Given the description of an element on the screen output the (x, y) to click on. 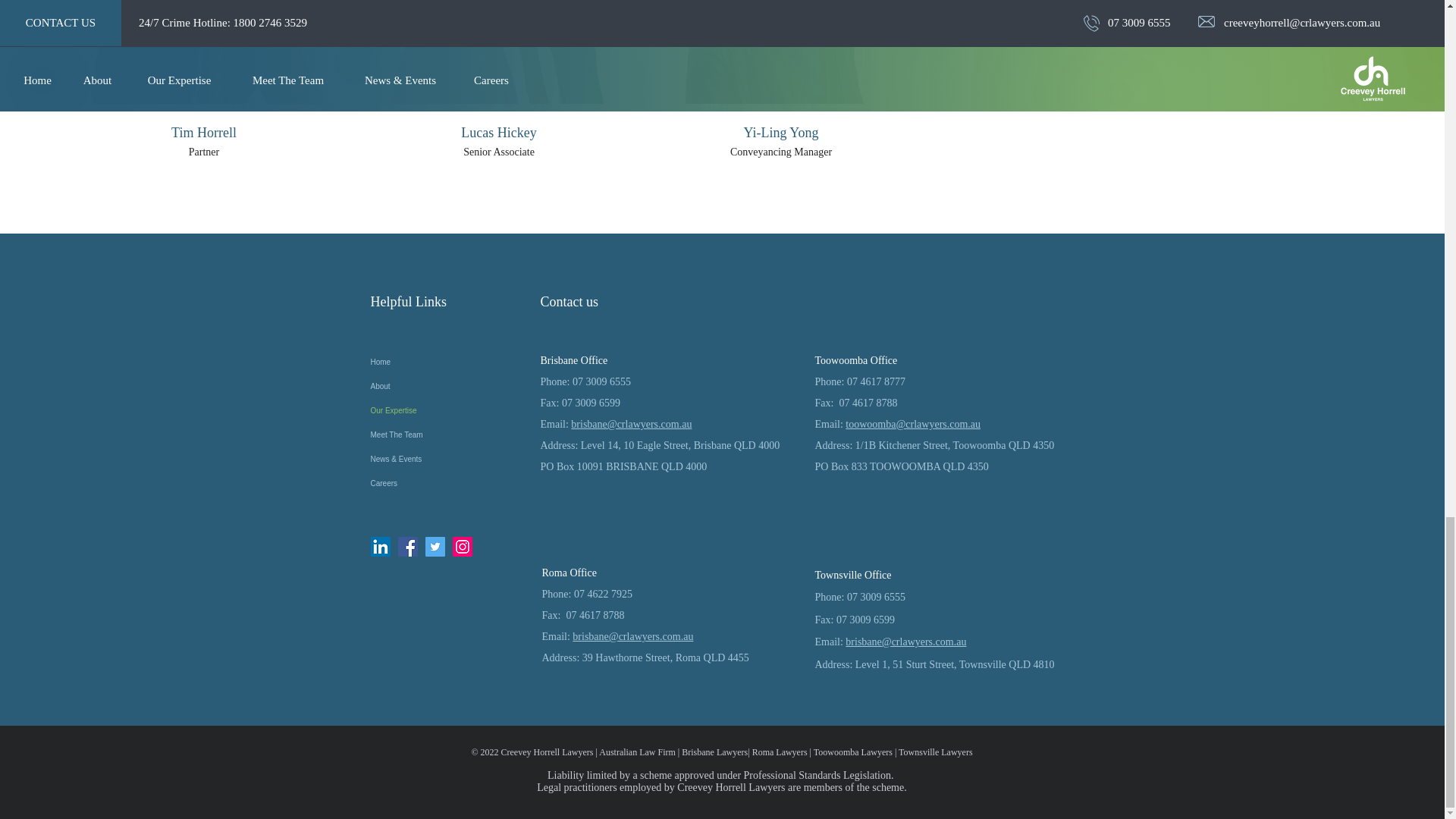
Home (448, 362)
